Given the description of an element on the screen output the (x, y) to click on. 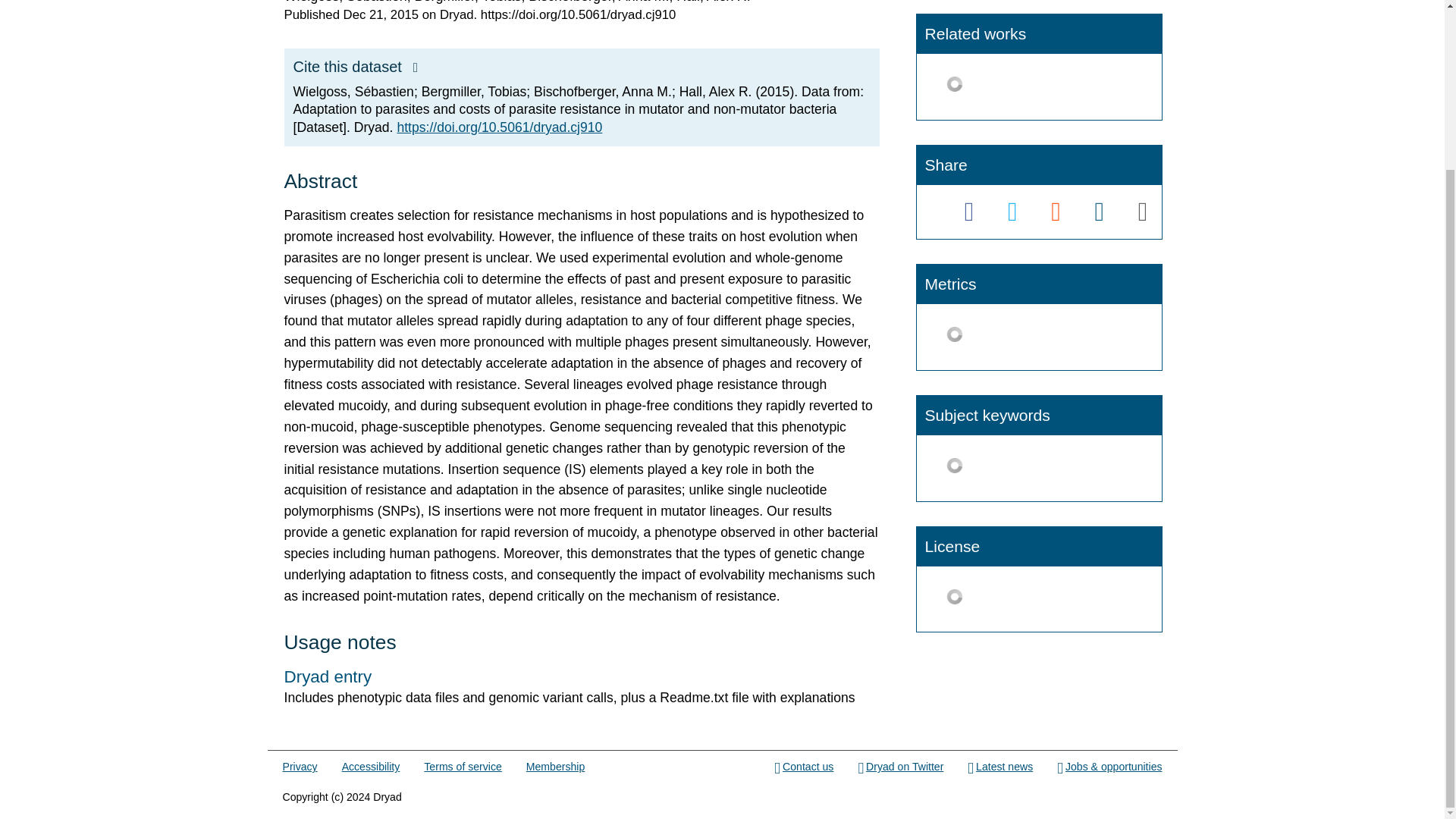
Contact us (803, 767)
Terms of service (461, 767)
Accessibility (371, 767)
Membership (555, 767)
Privacy (299, 767)
